Given the description of an element on the screen output the (x, y) to click on. 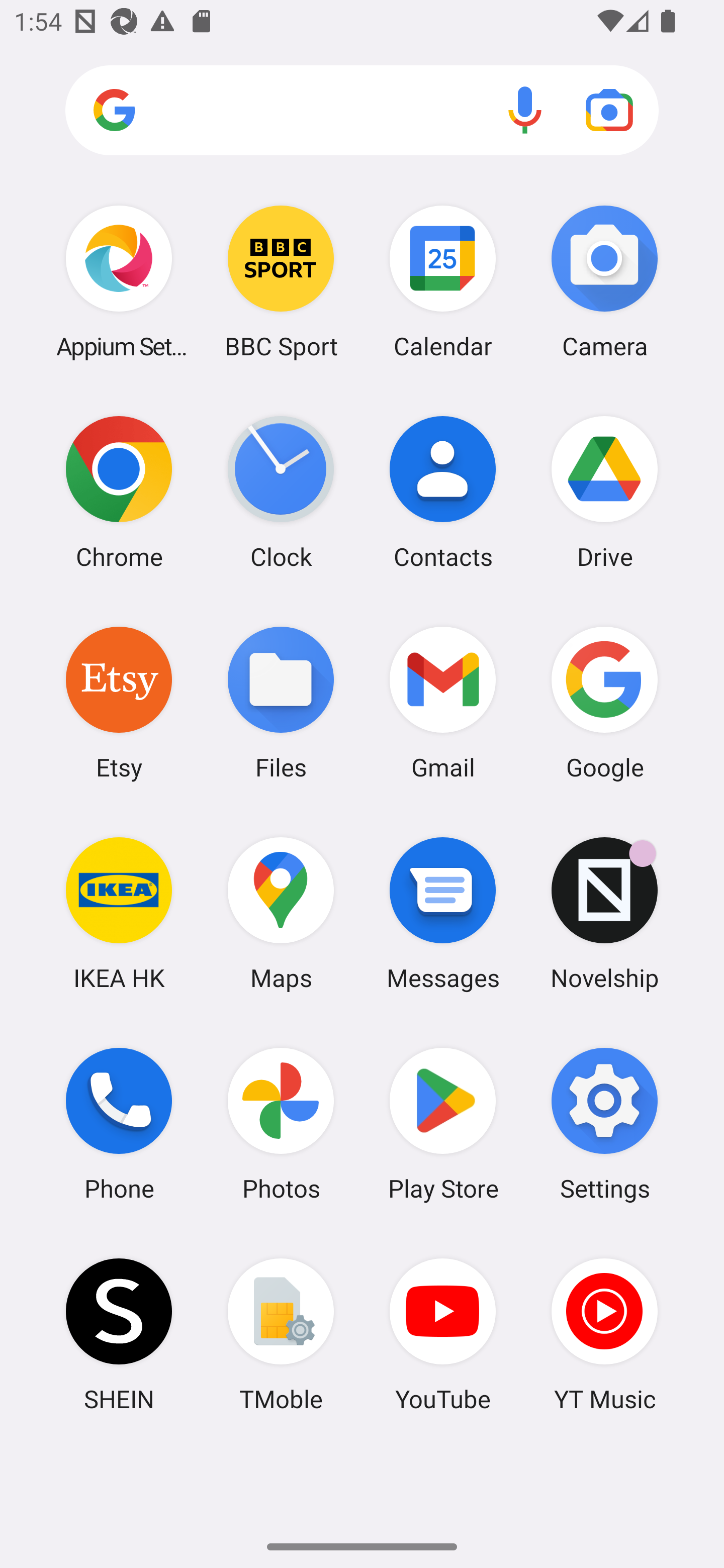
Search apps, web and more (361, 110)
Voice search (524, 109)
Google Lens (608, 109)
Appium Settings (118, 281)
BBC Sport (280, 281)
Calendar (443, 281)
Camera (604, 281)
Chrome (118, 492)
Clock (280, 492)
Contacts (443, 492)
Drive (604, 492)
Etsy (118, 702)
Files (280, 702)
Gmail (443, 702)
Google (604, 702)
IKEA HK (118, 913)
Maps (280, 913)
Messages (443, 913)
Novelship Novelship has 9 notifications (604, 913)
Phone (118, 1124)
Photos (280, 1124)
Play Store (443, 1124)
Settings (604, 1124)
SHEIN (118, 1334)
TMoble (280, 1334)
YouTube (443, 1334)
YT Music (604, 1334)
